Given the description of an element on the screen output the (x, y) to click on. 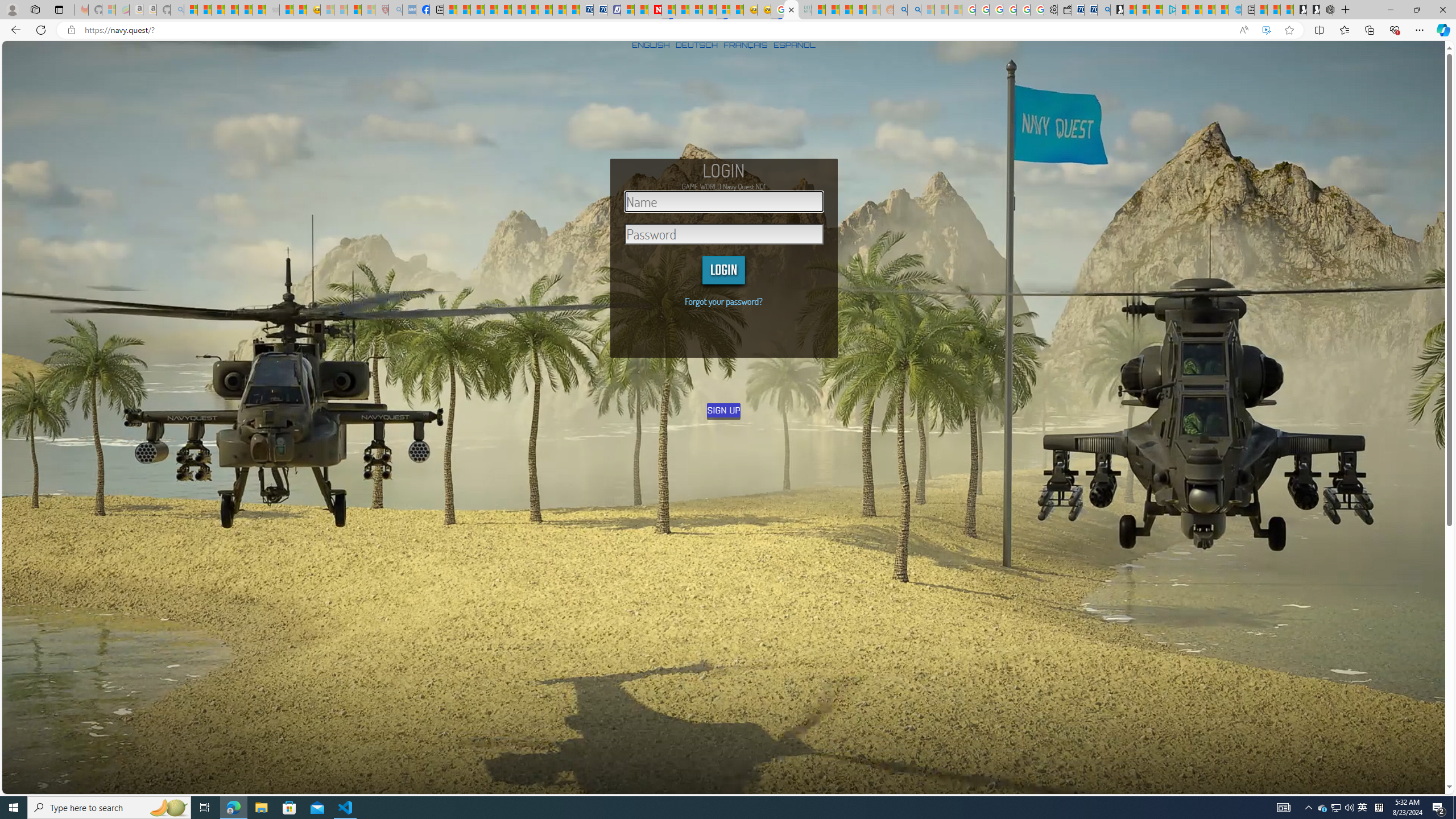
SIGN UP (724, 409)
Name (724, 201)
Combat Siege - Sleeping (271, 9)
